Given the description of an element on the screen output the (x, y) to click on. 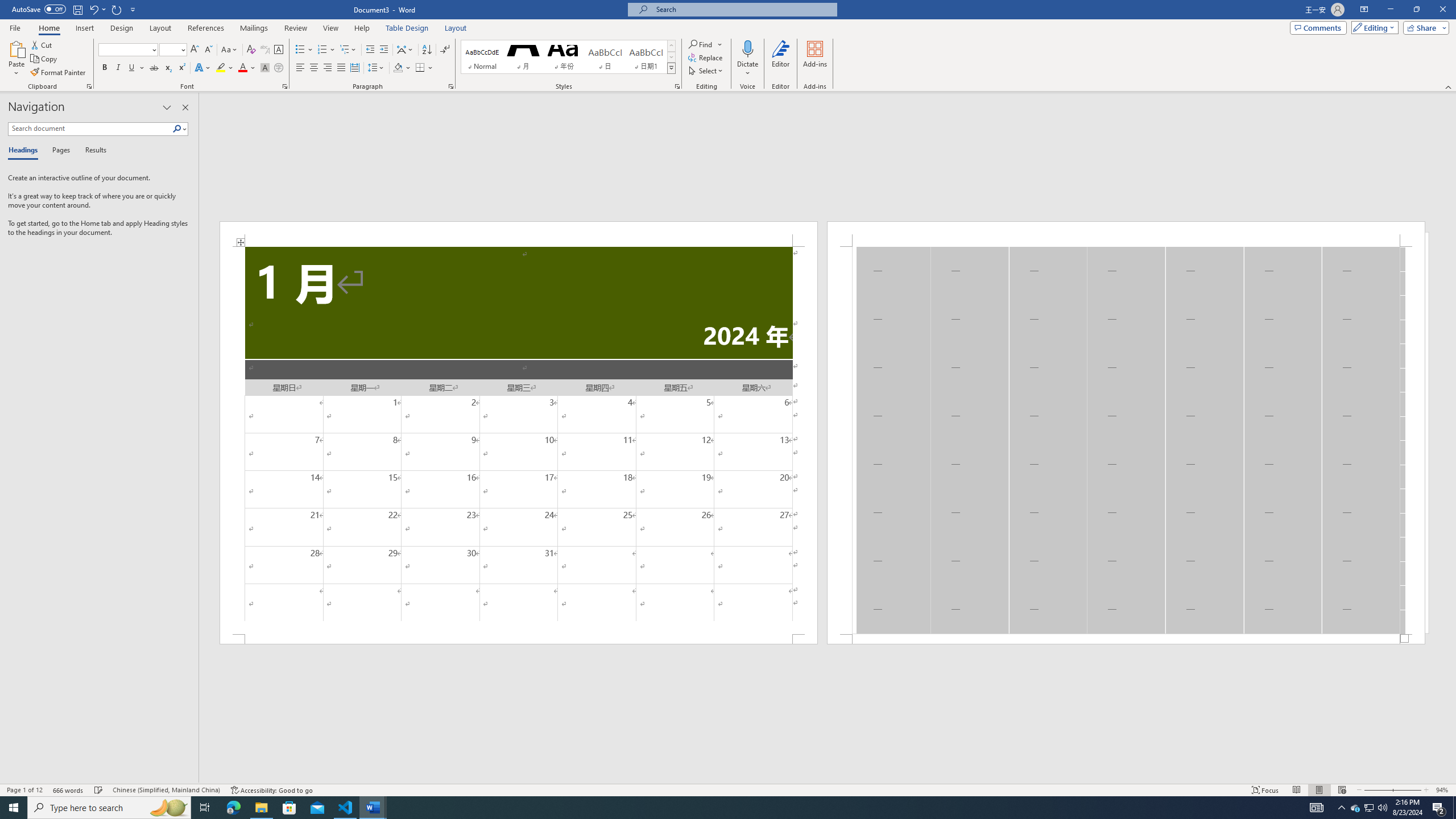
Borders (419, 67)
Borders (424, 67)
Undo Apply Quick Style (96, 9)
Customize Quick Access Toolbar (133, 9)
Footer -Section 1- (1126, 638)
Comments (1318, 27)
Line and Paragraph Spacing (376, 67)
Accessibility Checker Accessibility: Good to go (271, 790)
Shading (402, 67)
Restore Down (1416, 9)
Shading RGB(0, 0, 0) (397, 67)
